Given the description of an element on the screen output the (x, y) to click on. 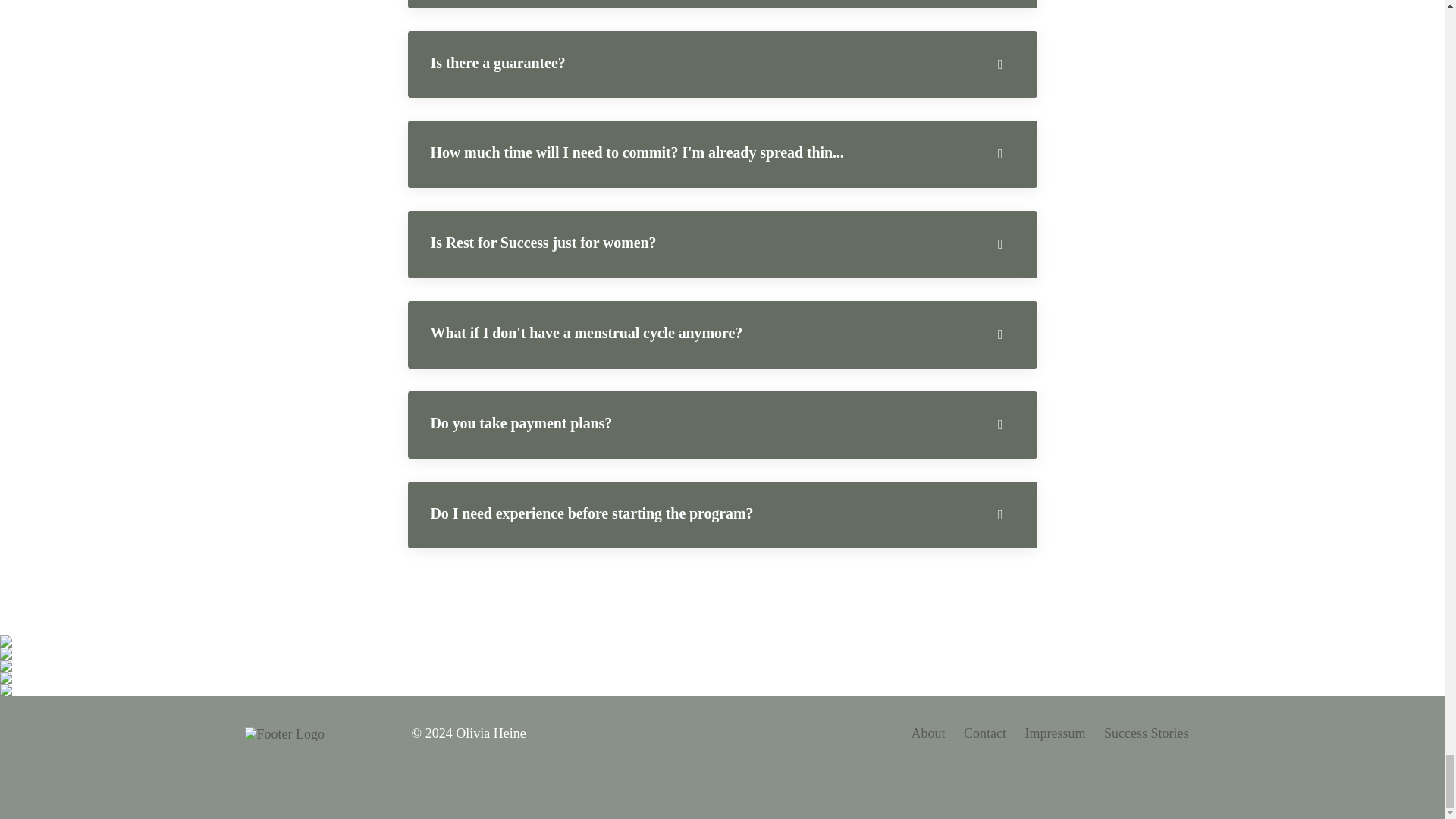
Success Stories (1146, 733)
Impressum (1055, 733)
Powered by Kajabi (1158, 778)
Contact (984, 733)
About (927, 733)
